Given the description of an element on the screen output the (x, y) to click on. 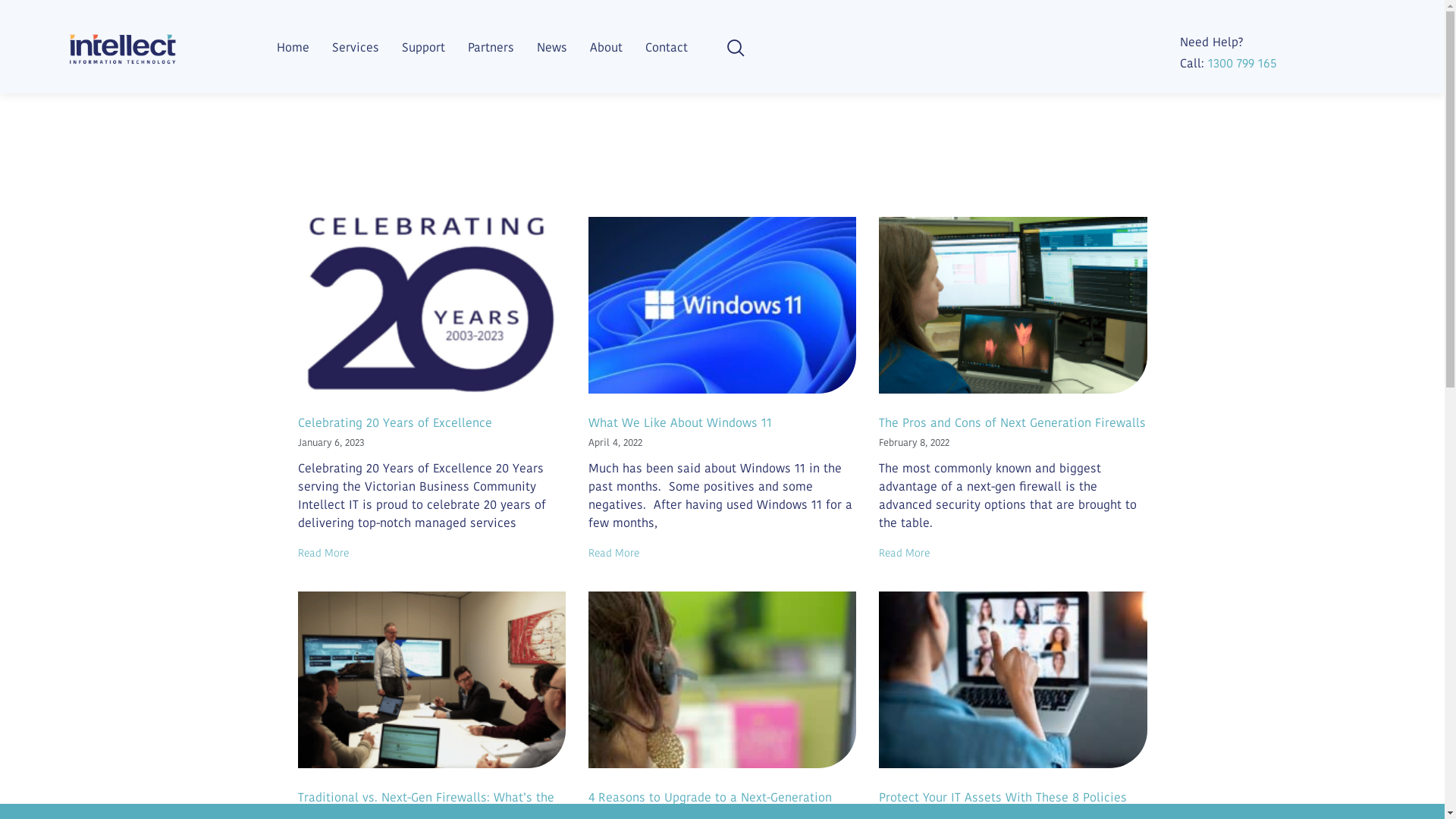
Read More Element type: text (322, 552)
The Pros and Cons of Next Generation Firewalls Element type: text (1011, 422)
Contact Element type: text (666, 46)
News Element type: text (551, 46)
Partners Element type: text (490, 46)
Read More Element type: text (613, 552)
What We Like About Windows 11 Element type: text (679, 422)
Support Element type: text (423, 46)
Protect Your IT Assets With These 8 Policies Element type: text (1002, 797)
Celebrating 20 Years of Excellence Element type: text (394, 422)
1300 799 165 Element type: text (1242, 63)
Services Element type: text (355, 46)
About Element type: text (605, 46)
Read More Element type: text (903, 552)
Search Button Element type: text (1430, 13)
Home Element type: text (292, 46)
